Given the description of an element on the screen output the (x, y) to click on. 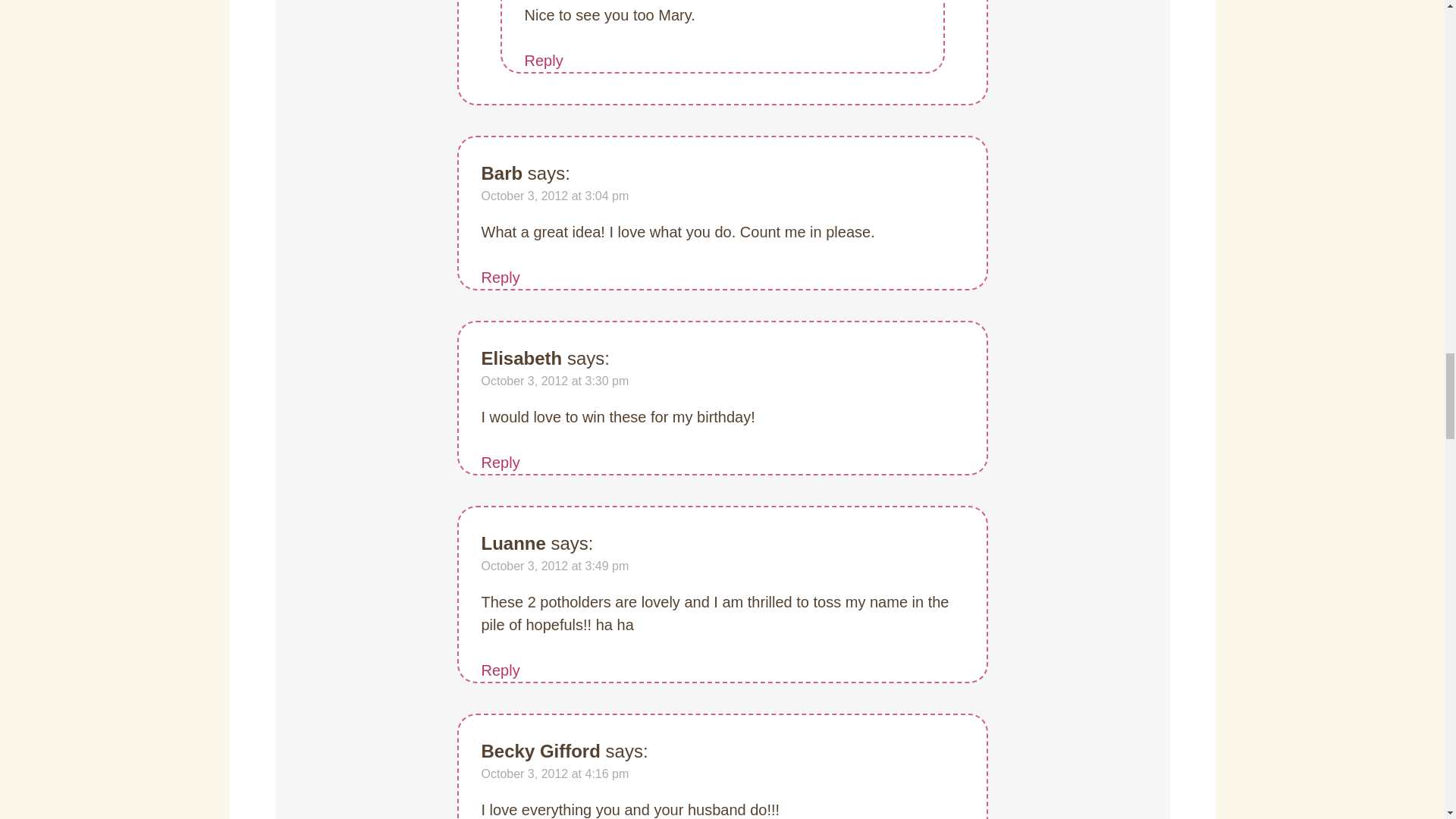
October 3, 2012 at 3:30 pm (554, 380)
October 3, 2012 at 3:04 pm (554, 195)
Reply (499, 277)
October 3, 2012 at 3:49 pm (554, 565)
October 3, 2012 at 4:16 pm (554, 773)
Reply (499, 669)
Reply (499, 462)
Reply (543, 60)
